Given the description of an element on the screen output the (x, y) to click on. 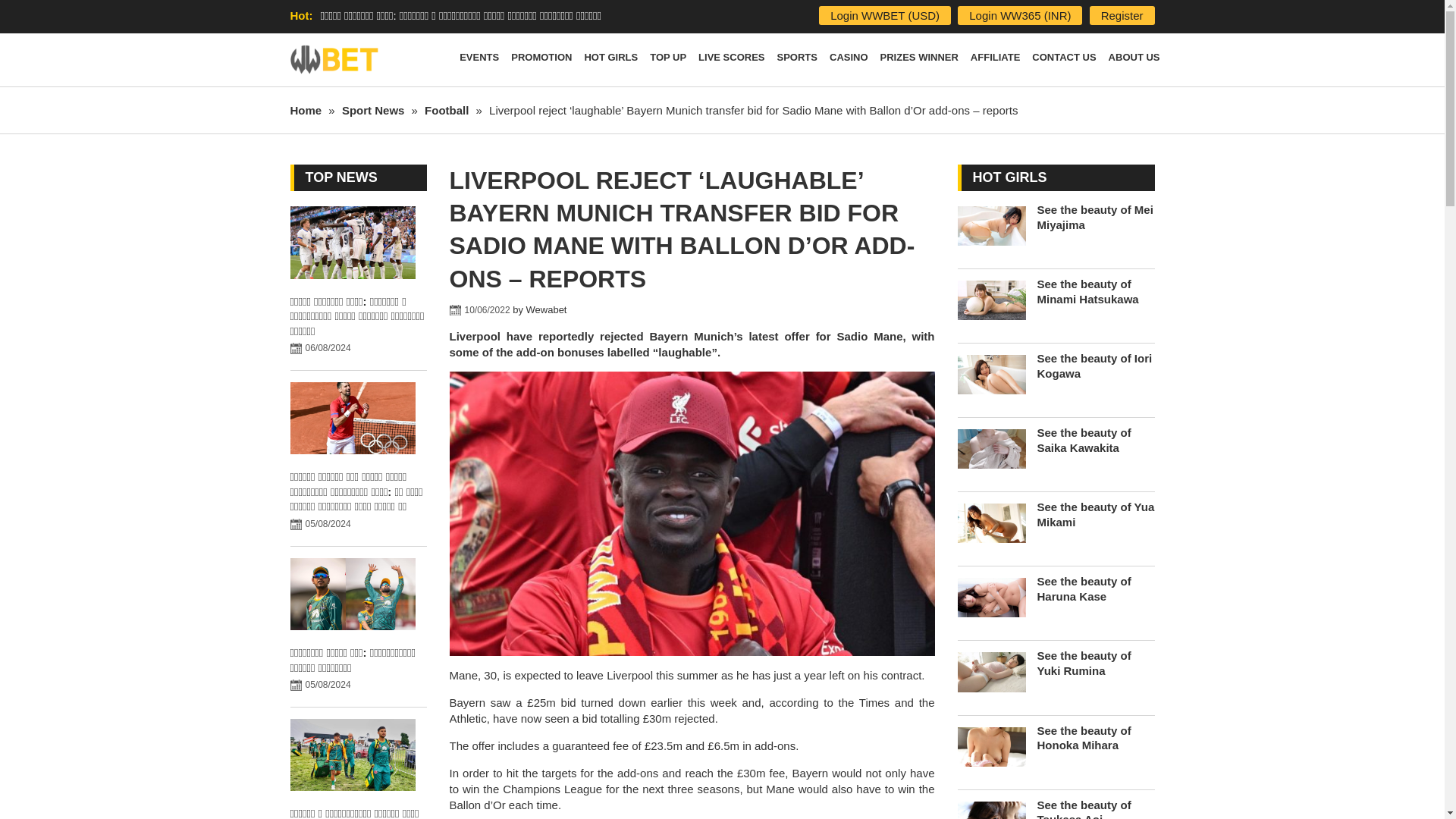
LIVE SCORES (731, 59)
HOT GIRLS (610, 59)
PROMOTION (541, 59)
Register (1121, 15)
